Given the description of an element on the screen output the (x, y) to click on. 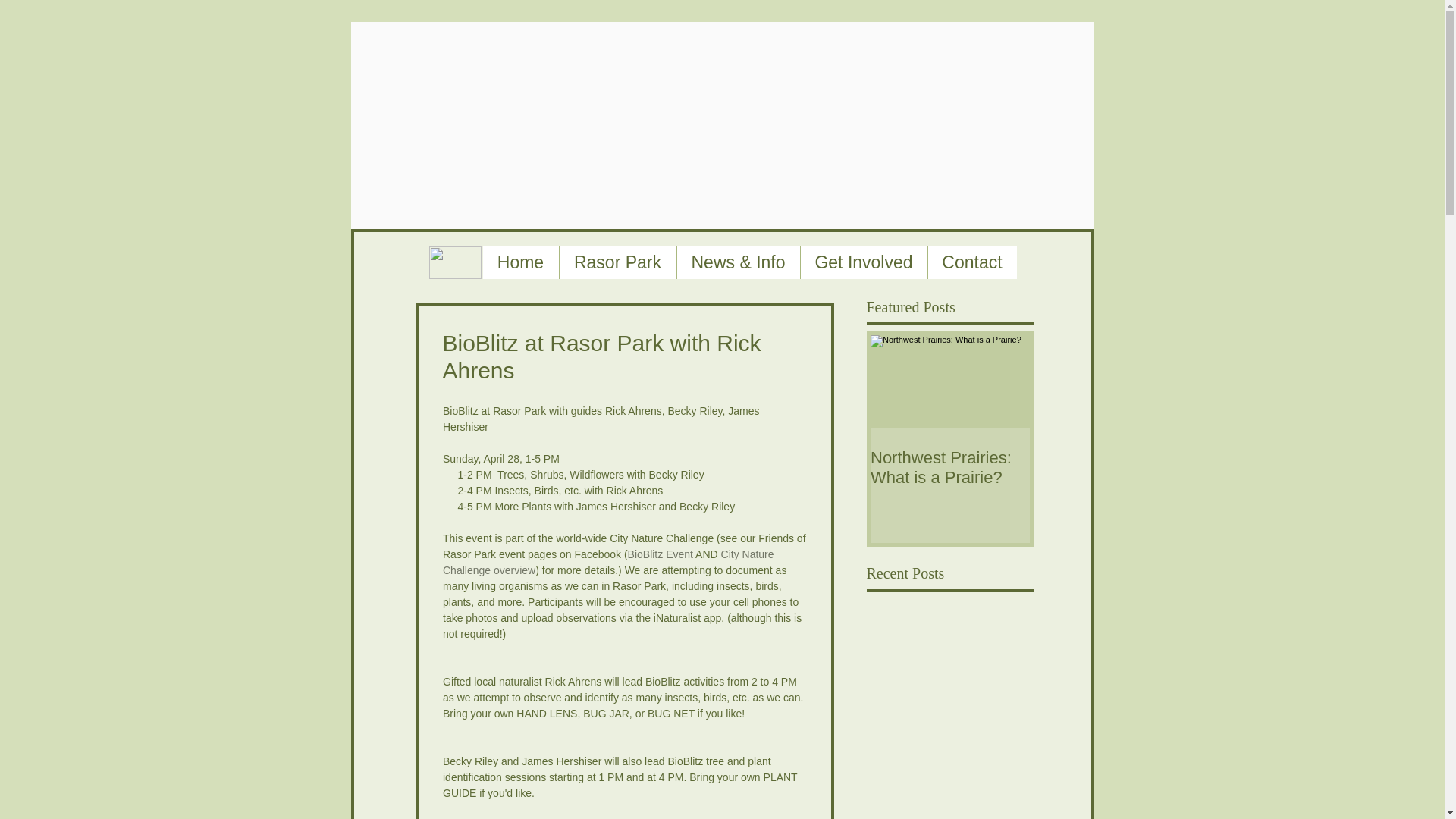
BioBlitz Event (660, 553)
City Nature Challenge overview (609, 561)
Northwest Prairies: What is a Prairie? (949, 467)
